Given the description of an element on the screen output the (x, y) to click on. 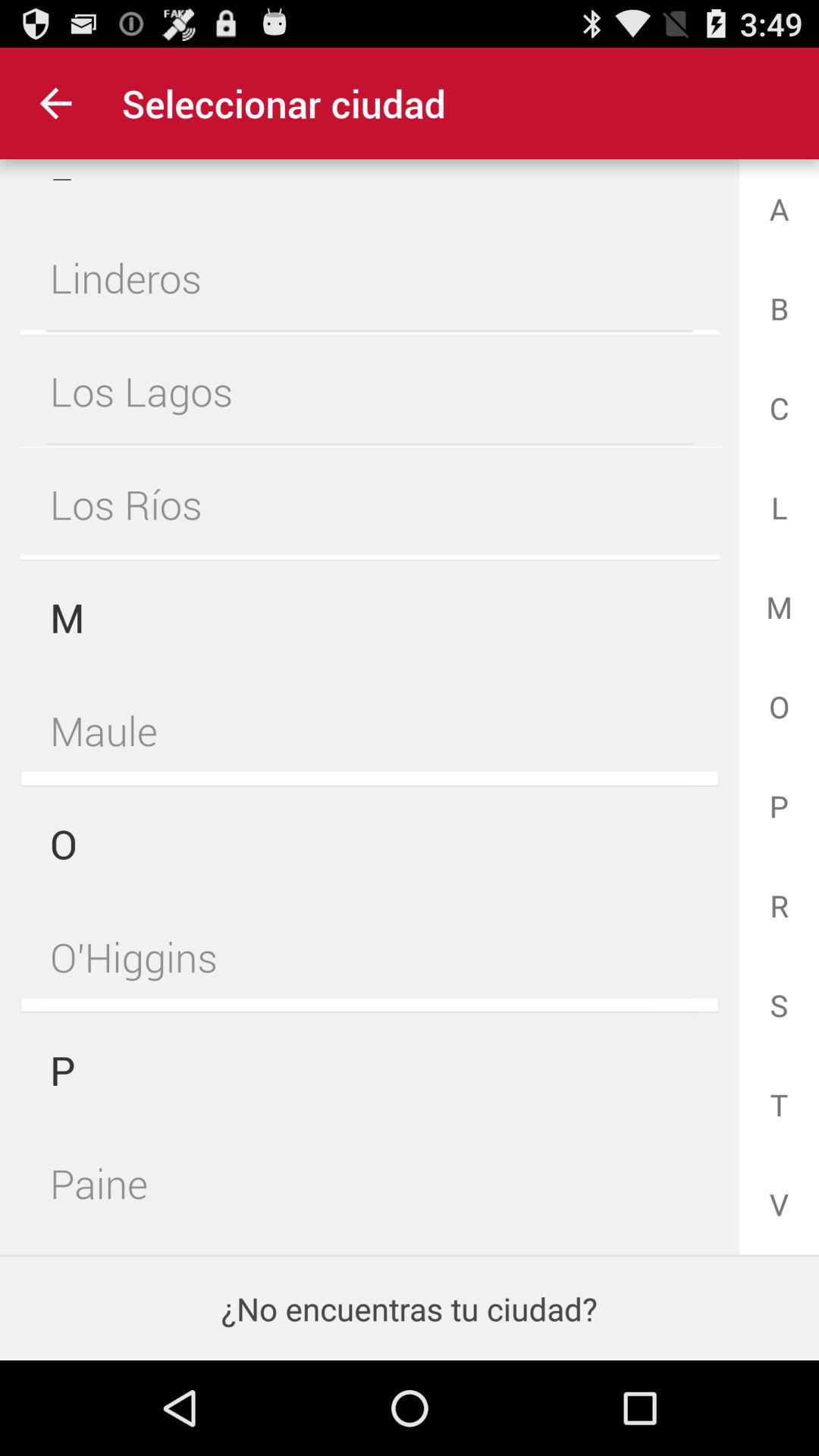
open item at the top left corner (55, 103)
